Given the description of an element on the screen output the (x, y) to click on. 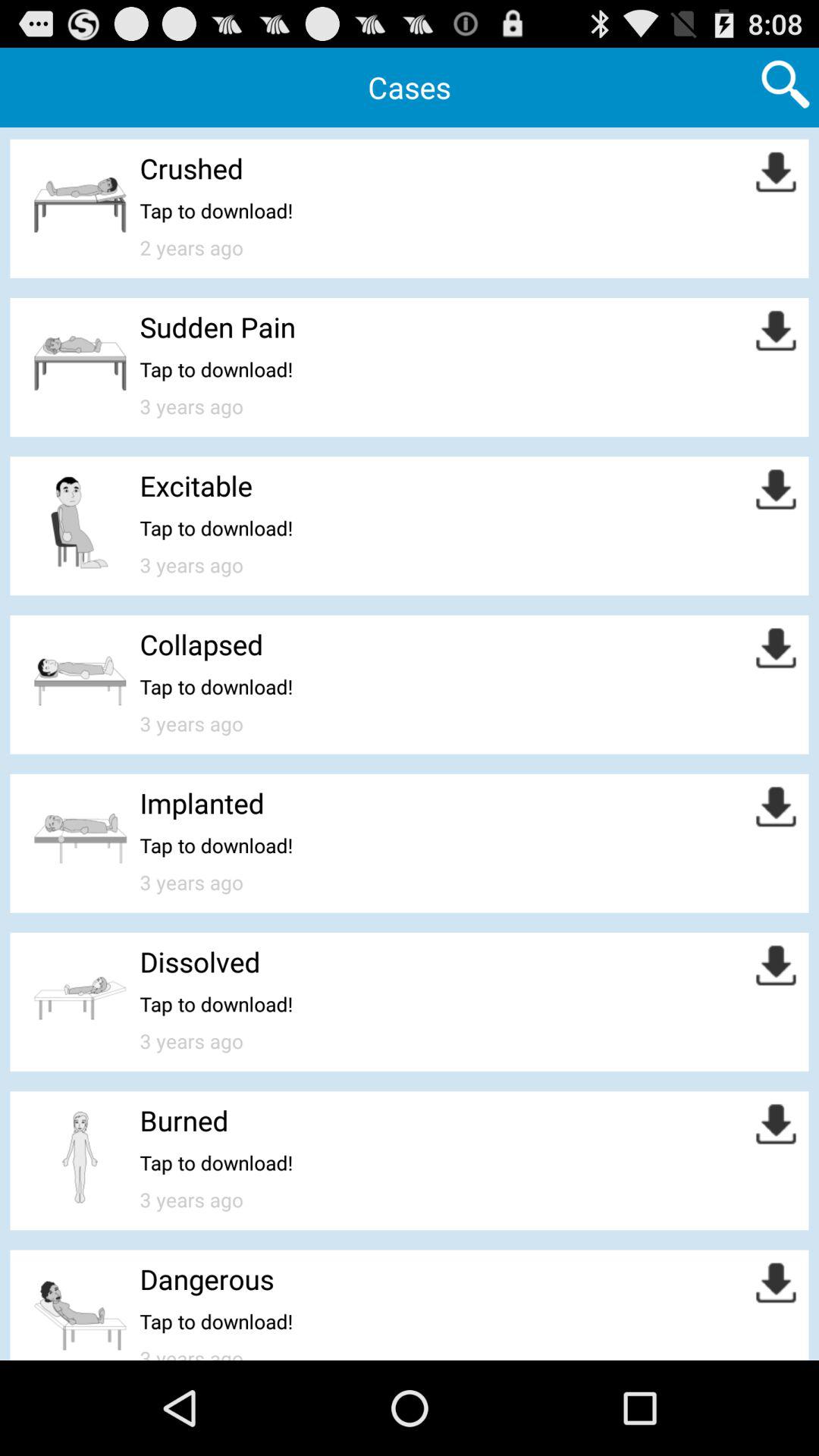
turn on the icon above the tap to download! app (199, 961)
